Given the description of an element on the screen output the (x, y) to click on. 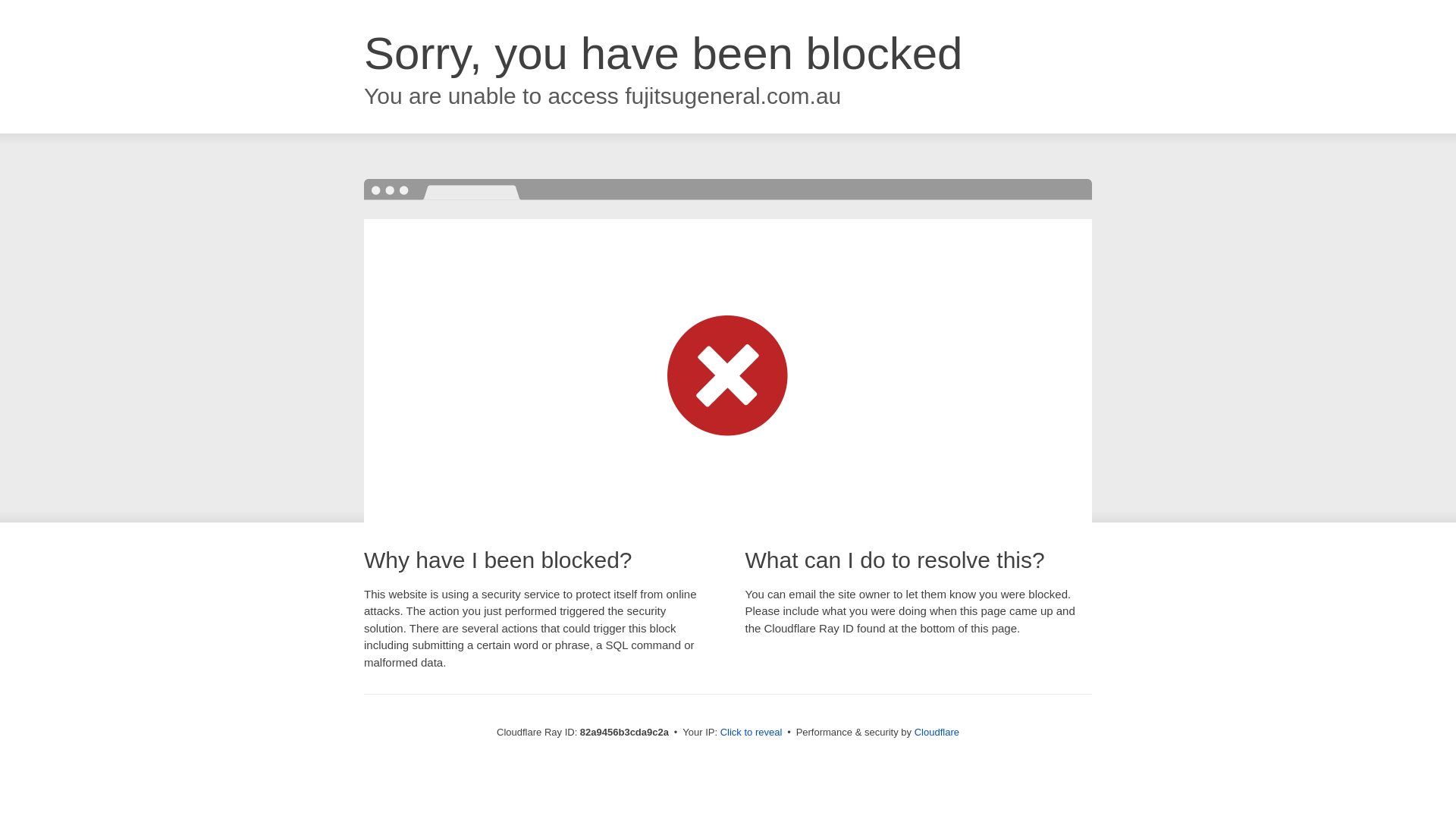
Cloudflare Element type: text (936, 731)
Click to reveal Element type: text (751, 732)
